Given the description of an element on the screen output the (x, y) to click on. 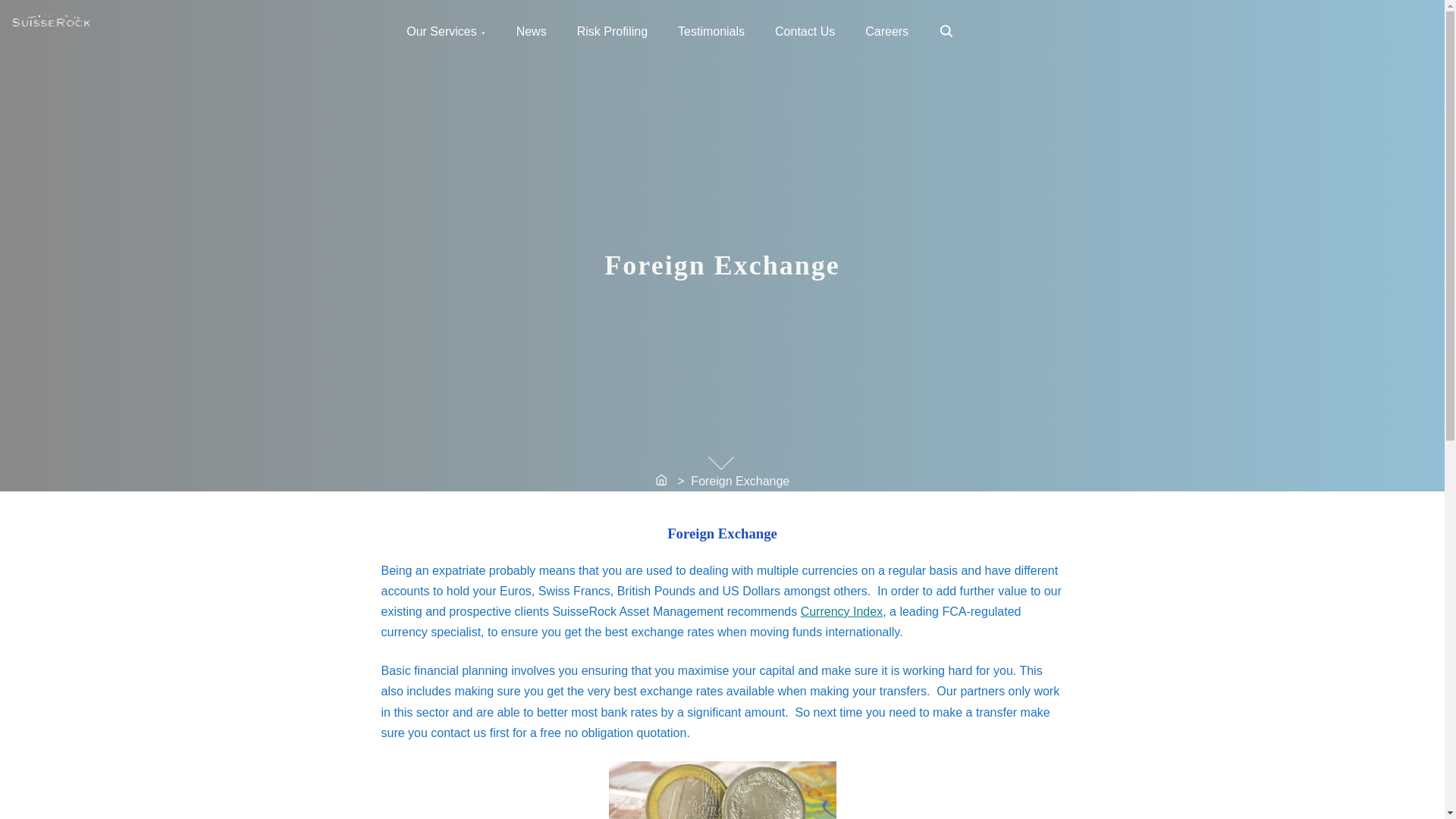
Contact Us (805, 30)
News (531, 30)
Home (662, 481)
Our Services (445, 30)
Currency Index (841, 611)
Search (946, 30)
Careers (886, 30)
Testimonials (947, 31)
Risk Profiling (711, 30)
